Given the description of an element on the screen output the (x, y) to click on. 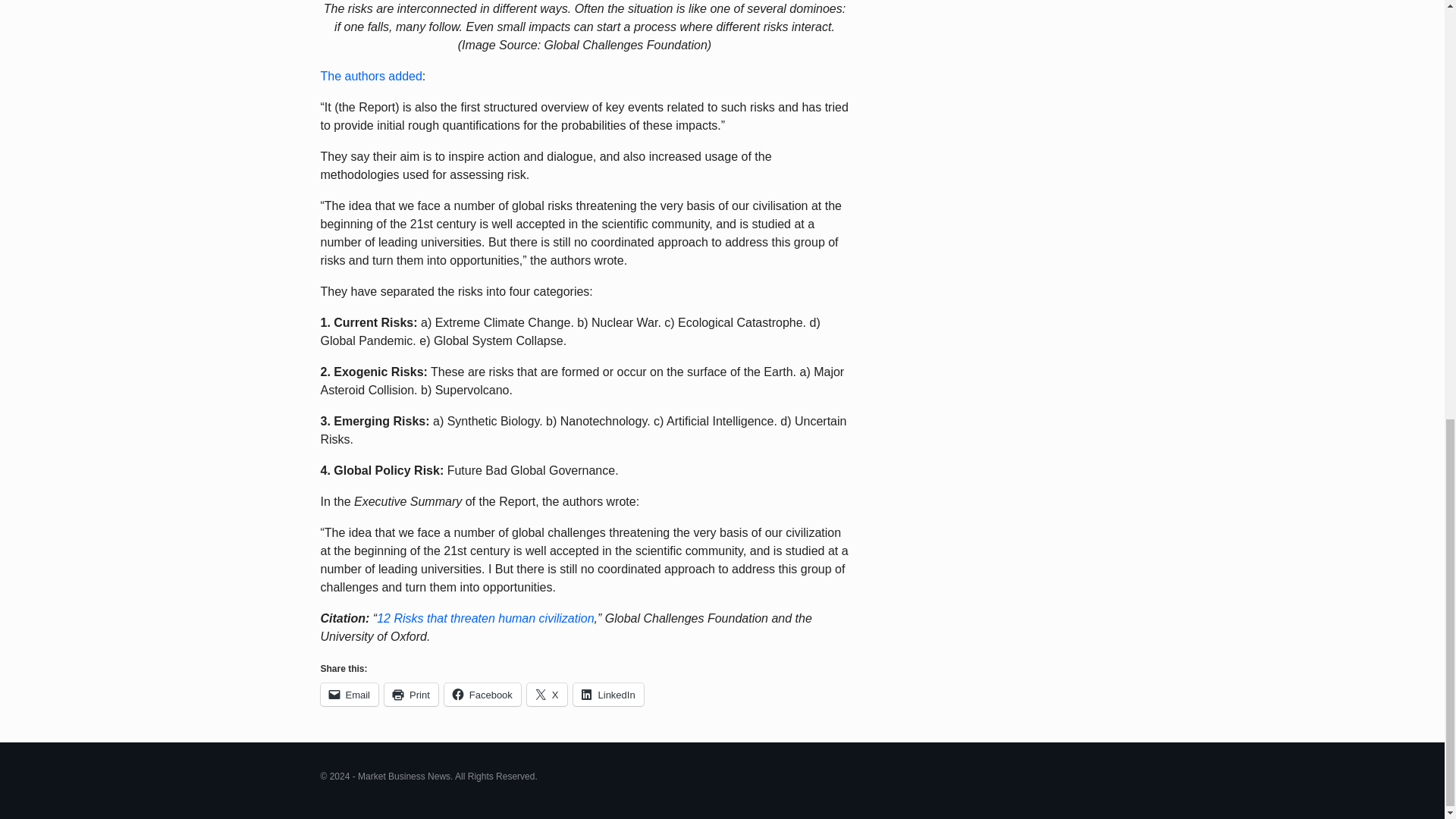
Click to share on Facebook (482, 694)
Email (349, 694)
The authors added (371, 75)
Click to email a link to a friend (349, 694)
Facebook (482, 694)
LinkedIn (608, 694)
Print (411, 694)
X (547, 694)
12 Risks that threaten human civilization (485, 617)
Click to share on LinkedIn (608, 694)
Click to print (411, 694)
Click to share on X (547, 694)
